Given the description of an element on the screen output the (x, y) to click on. 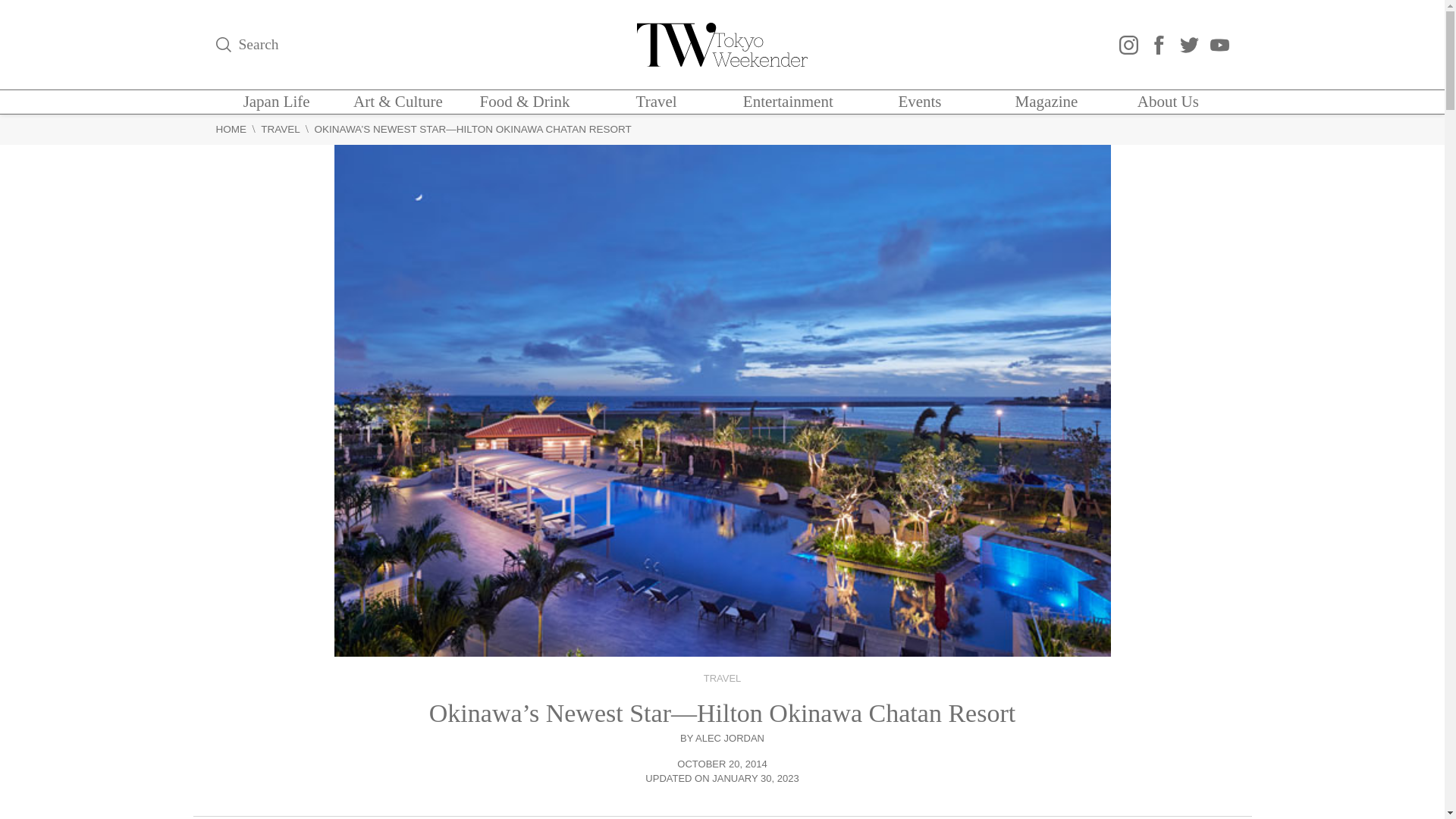
Travel (656, 101)
Events (919, 101)
About Us (1167, 101)
Japan Life (276, 101)
Entertainment (787, 101)
Magazine (1046, 101)
